Given the description of an element on the screen output the (x, y) to click on. 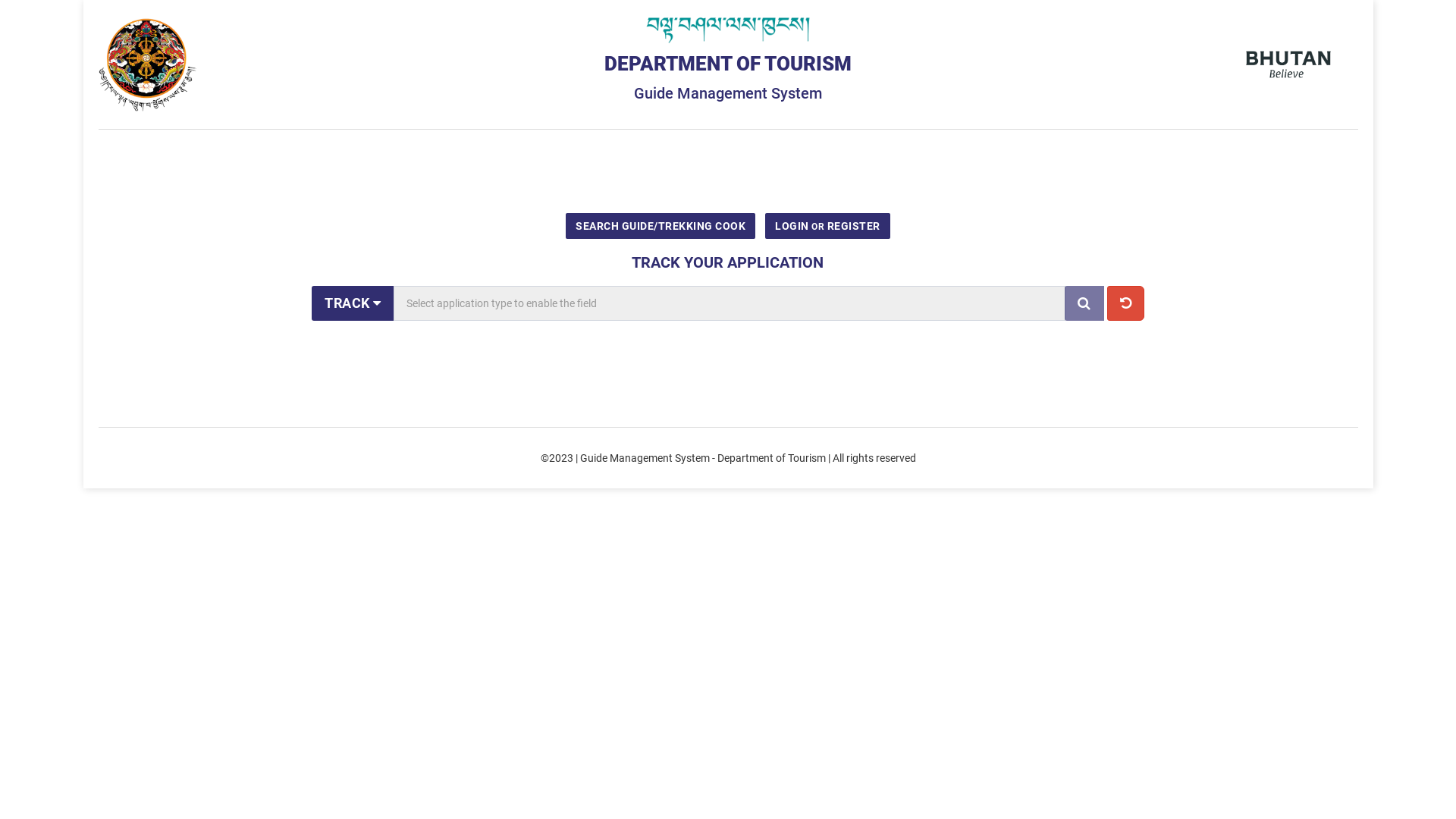
DEPARTMENT OF TOURISM
Guide Management System Element type: text (727, 59)
TRACK Element type: text (352, 302)
LOGIN OR REGISTER Element type: text (827, 225)
SEARCH GUIDE/TREKKING COOK Element type: text (660, 225)
Guide Management System - Department of Tourism Element type: text (702, 457)
